Given the description of an element on the screen output the (x, y) to click on. 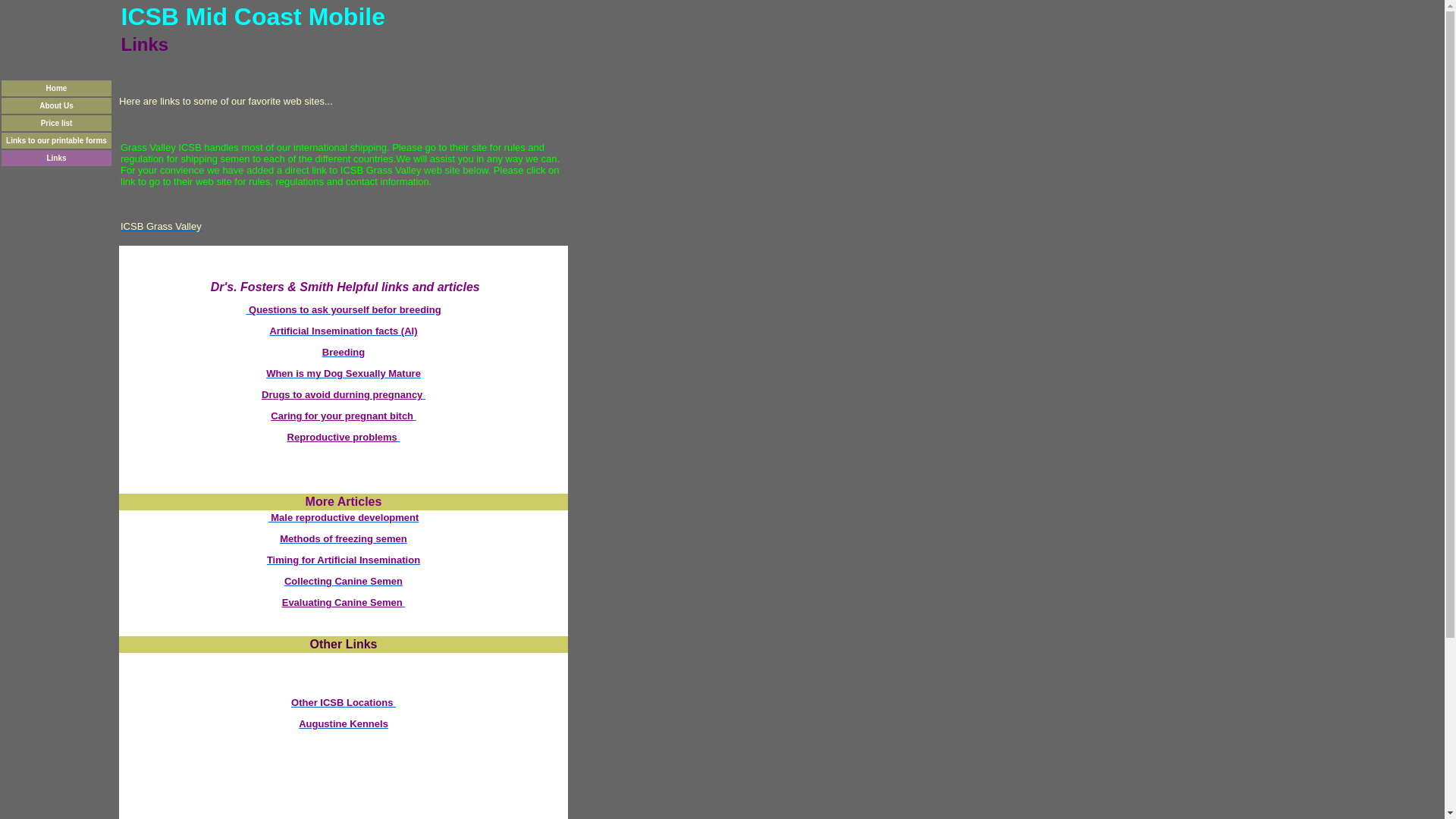
Semen Evaluation (344, 602)
Price list (56, 121)
Caring for your pregnant bitch  (342, 415)
Drugs to avoid durning pregnancy  (343, 394)
Collecting Canine Semen (343, 581)
Other ICSB Locations  (343, 702)
About Us (55, 103)
Collecting canine semen (343, 581)
Links (55, 155)
Timing for Artificial Insemination (343, 559)
Home (56, 86)
Links to our printable forms (55, 138)
Reproductive problems  (343, 437)
Timing for Artificial Insimenation (343, 559)
Breeding (343, 351)
